Given the description of an element on the screen output the (x, y) to click on. 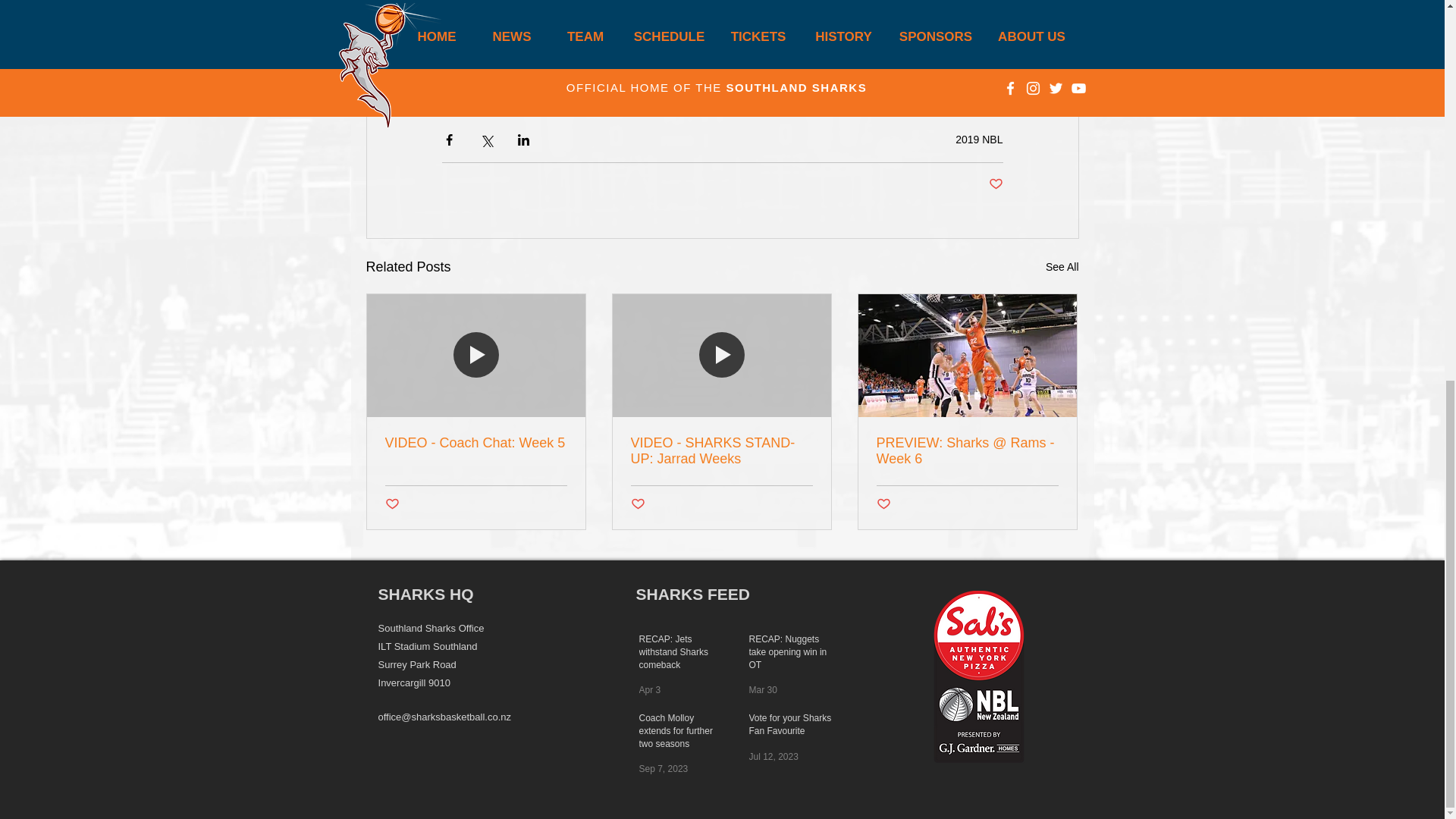
Post not marked as liked (637, 504)
Mar 30 (763, 689)
Matt Powell Photography (531, 16)
Apr 3 (650, 689)
VIDEO - SHARKS STAND-UP: Jarrad Weeks (721, 450)
Sep 7, 2023 (663, 768)
Judd Flavell (465, 87)
Jul 12, 2023 (773, 756)
Post not marked as liked (883, 504)
See All (1061, 267)
